Given the description of an element on the screen output the (x, y) to click on. 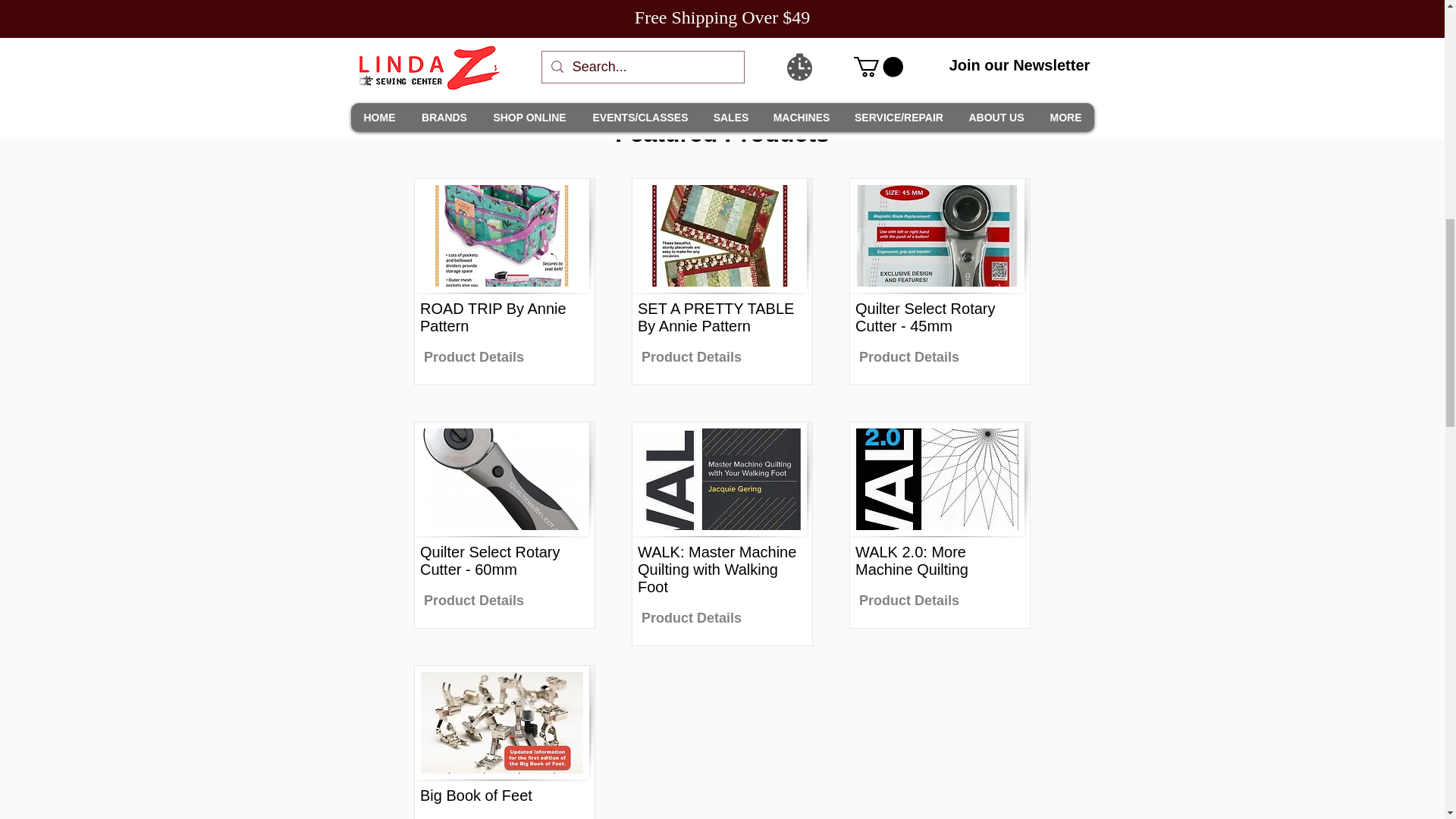
file.jpg (937, 235)
file.jpg (718, 235)
file.jpg (501, 722)
file.jpg (937, 479)
file.png (501, 479)
file.jpg (501, 235)
file.jpg (718, 479)
